Given the description of an element on the screen output the (x, y) to click on. 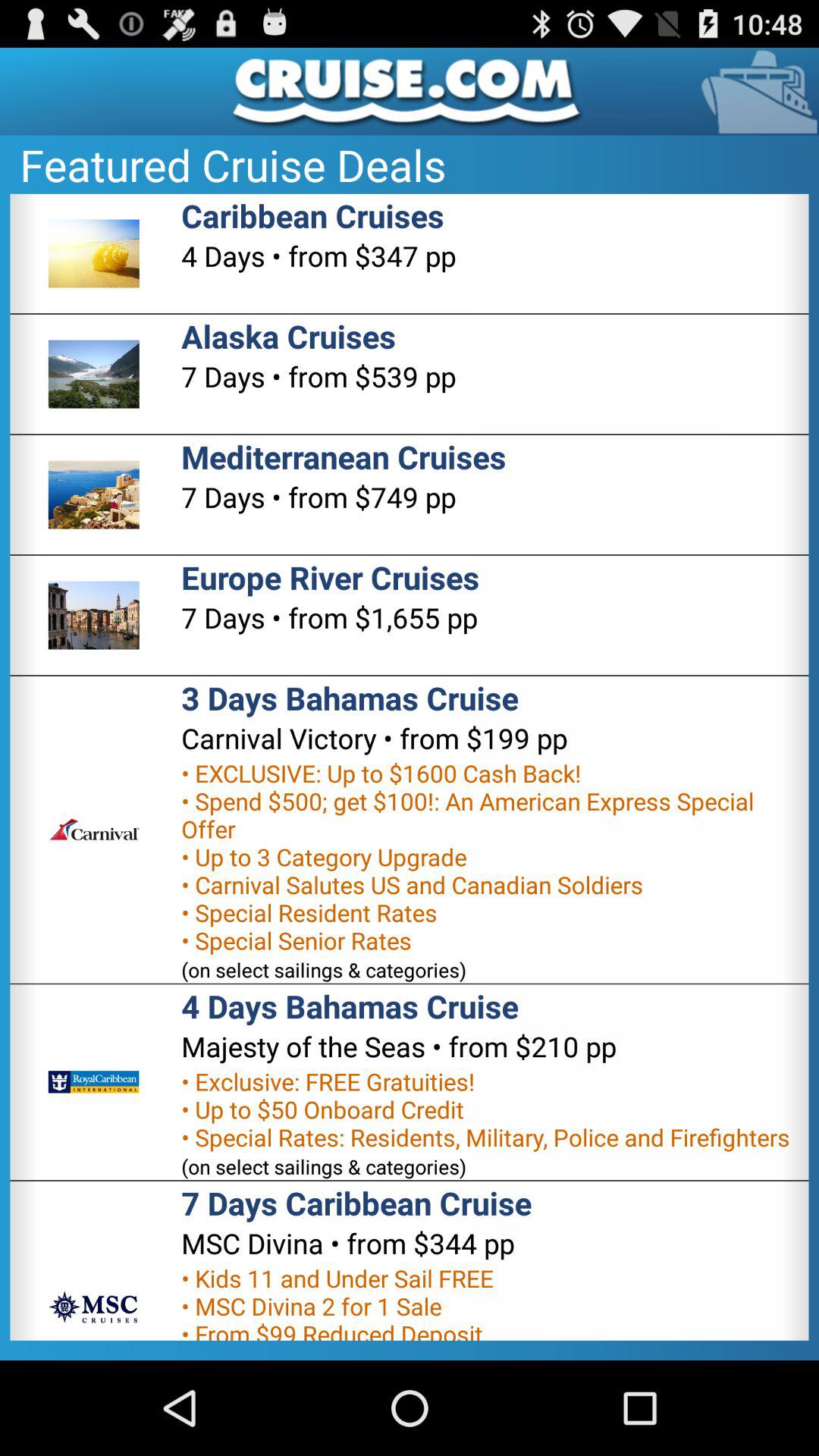
click the item below the featured cruise deals icon (312, 215)
